Given the description of an element on the screen output the (x, y) to click on. 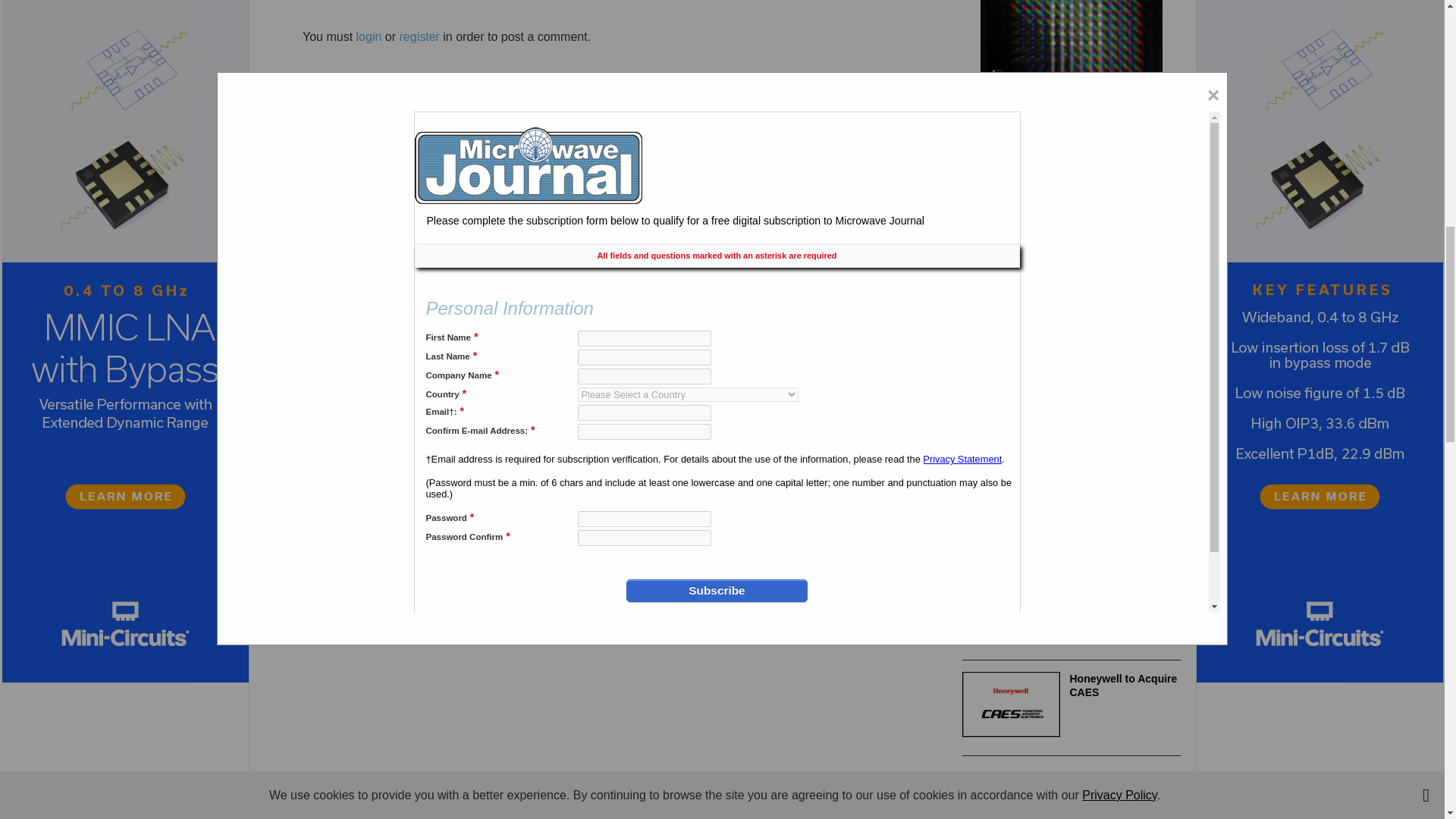
3rd party ad content (1075, 796)
IMS2024-Featured.jpg (1010, 608)
IMS2024.jpg (1010, 504)
caes-6-20-24.jpg (1010, 704)
